Given the description of an element on the screen output the (x, y) to click on. 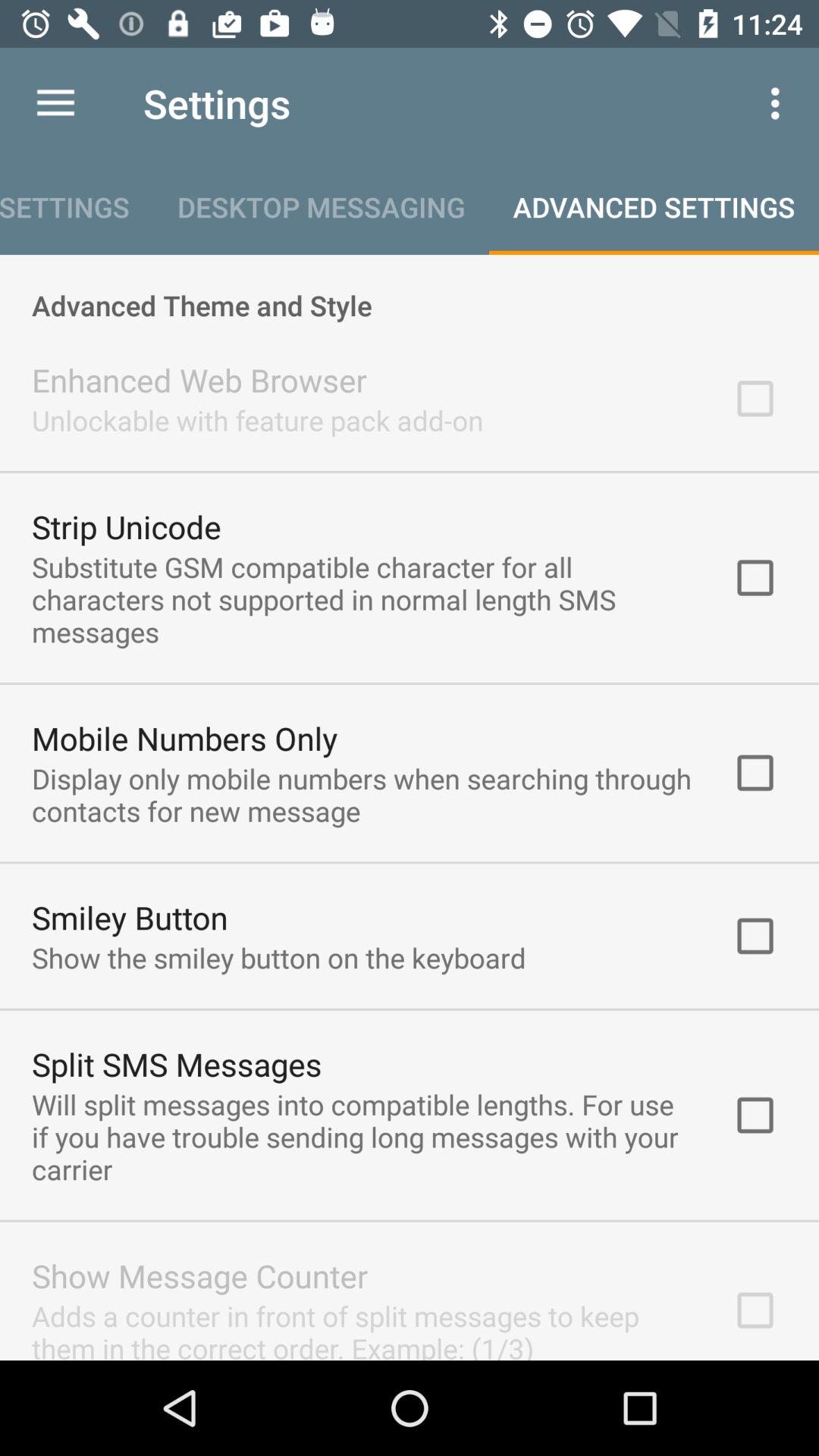
swipe to show the smiley (278, 957)
